Given the description of an element on the screen output the (x, y) to click on. 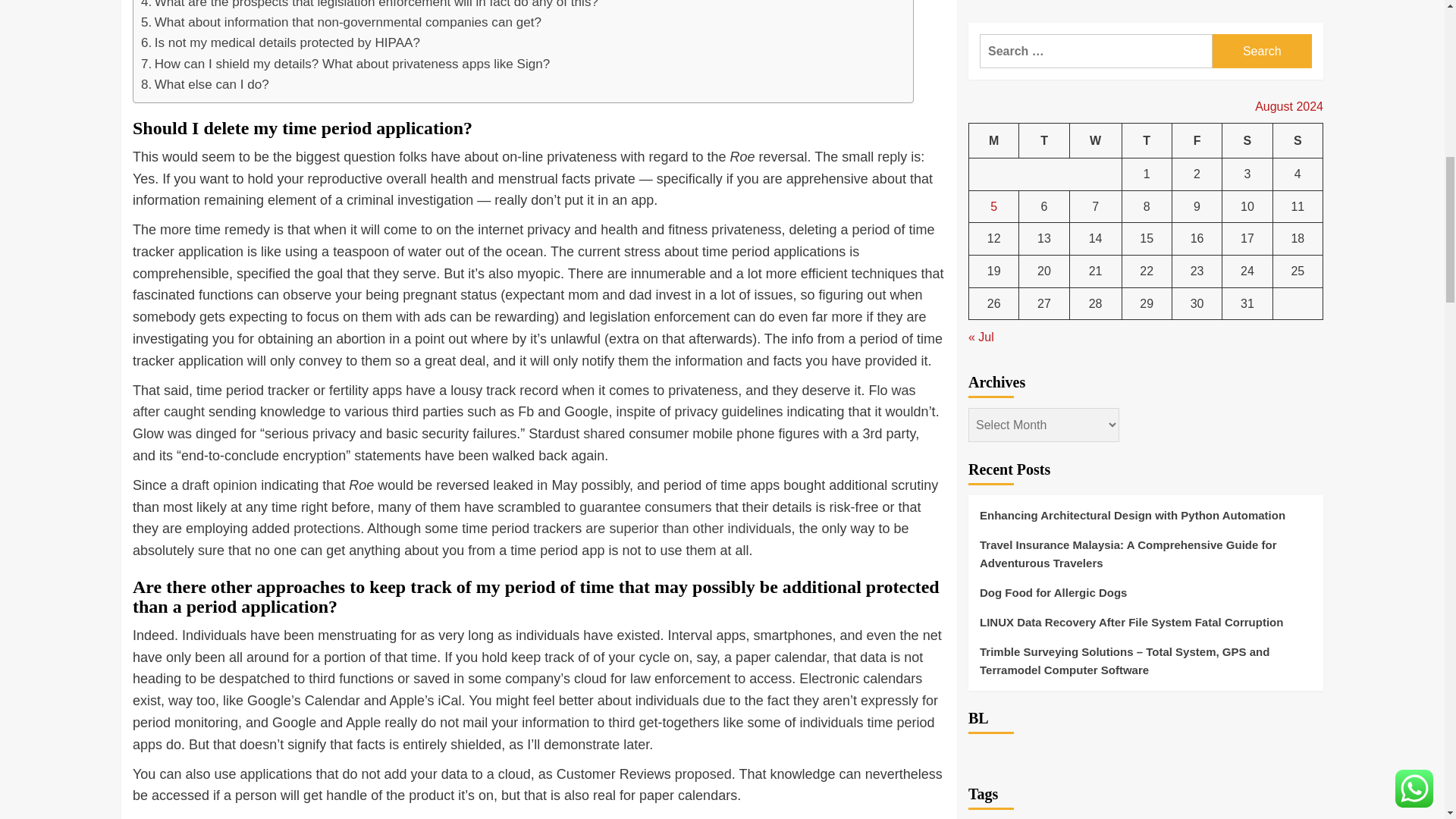
shared (603, 433)
Is not my medical details protected by HIPAA? (280, 42)
What else can I do? (205, 84)
guarantee consumers (645, 507)
protections (326, 528)
Is not my medical details protected by HIPAA? (280, 42)
draft opinion (219, 485)
was after caught (523, 401)
are superior than other individuals (687, 528)
proposed (703, 774)
